Given the description of an element on the screen output the (x, y) to click on. 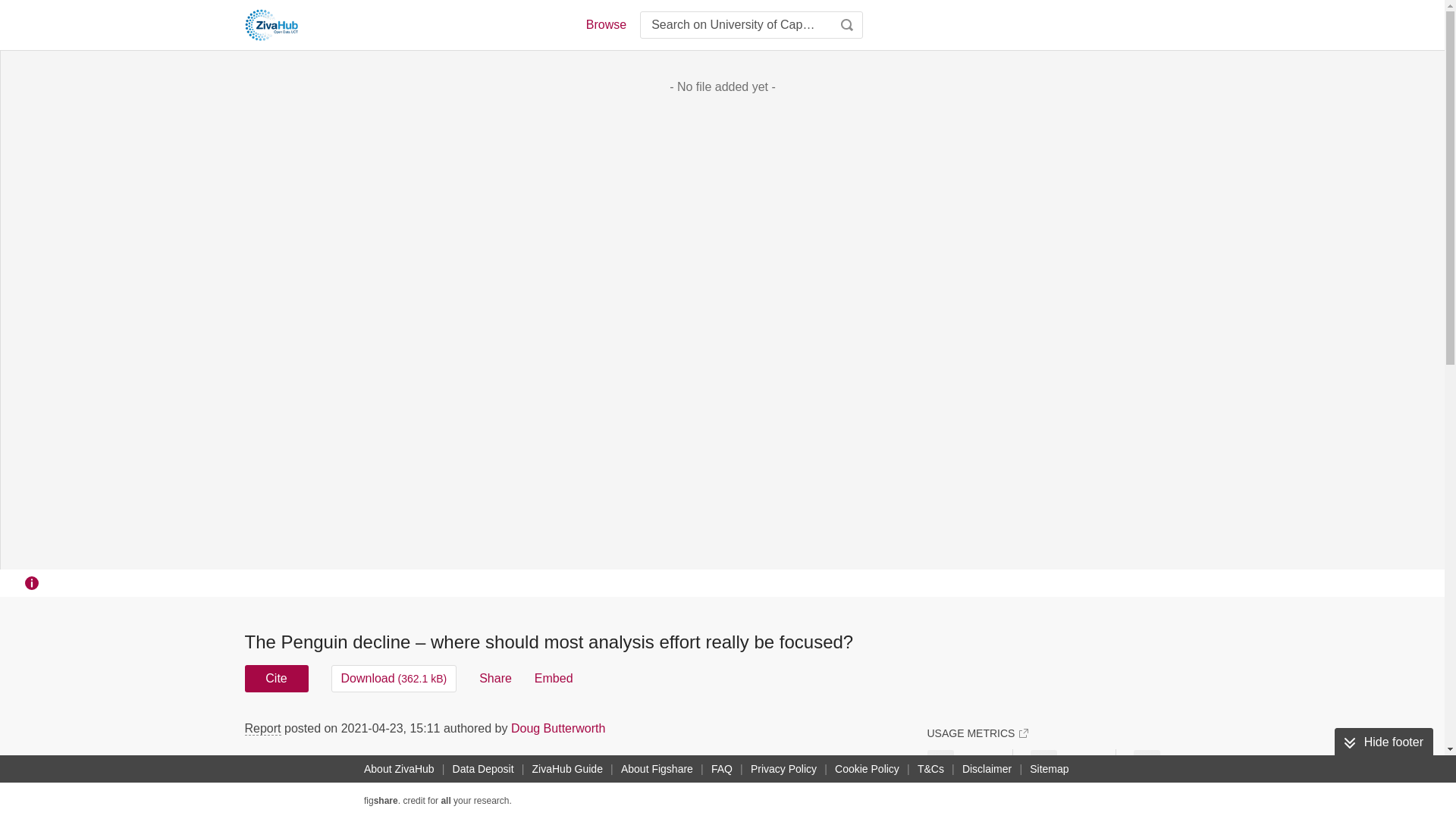
FAQ (721, 769)
About Figshare (656, 769)
Hide footer (1383, 742)
About ZivaHub (399, 769)
Cite (275, 678)
Share (495, 678)
Data Deposit (483, 769)
USAGE METRICS (976, 732)
Browse (605, 24)
Embed (553, 678)
ZivaHub Guide (567, 769)
Doug Butterworth (558, 727)
